Given the description of an element on the screen output the (x, y) to click on. 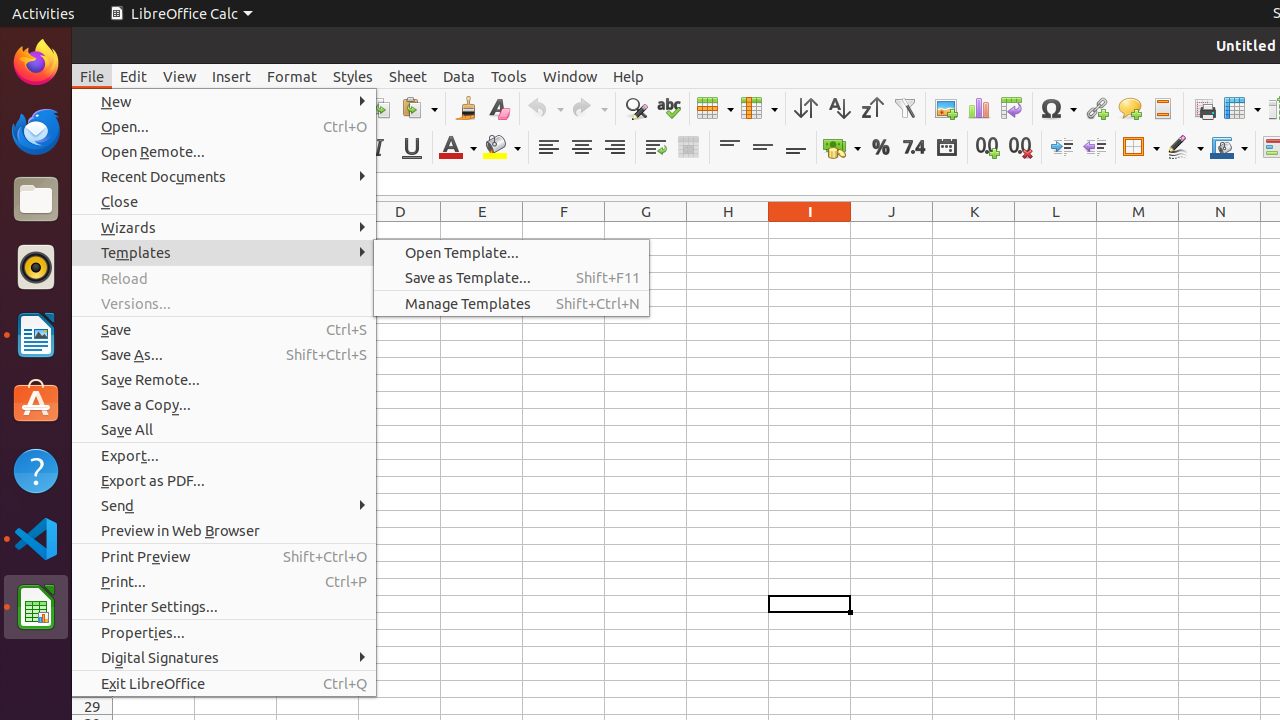
F1 Element type: table-cell (564, 230)
Open Template... Element type: menu-item (511, 252)
Format Element type: menu (292, 76)
Align Right Element type: push-button (614, 147)
New Element type: menu (224, 101)
